Given the description of an element on the screen output the (x, y) to click on. 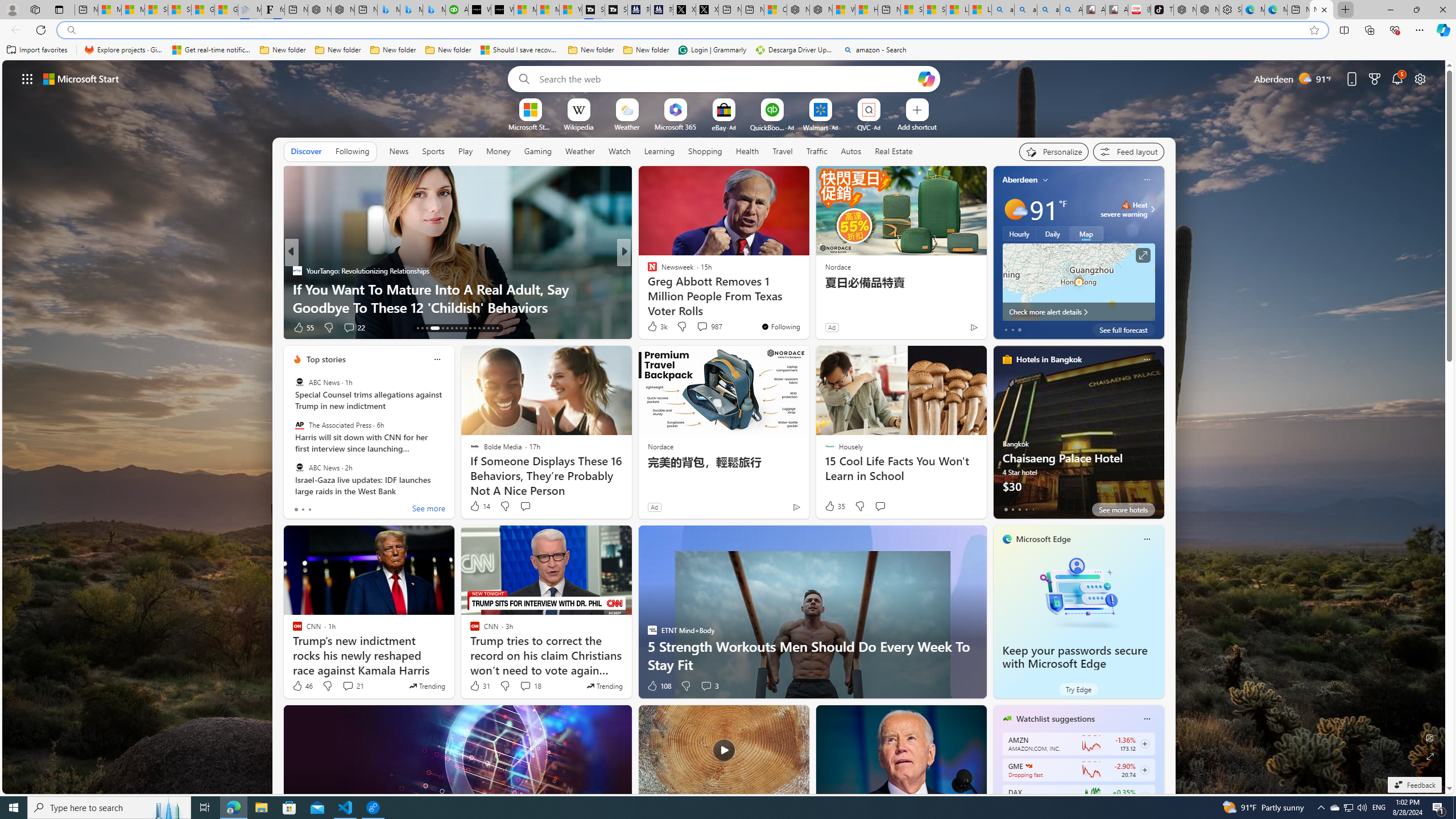
Money (498, 151)
Microsoft Edge (1043, 538)
View comments 2 Comment (698, 327)
View comments 3 Comment (705, 685)
Chaisaeng Palace Hotel (1078, 436)
AutomationID: tab-17 (439, 328)
Try Edge (1078, 689)
45 Like (652, 327)
Microsoft rewards (1374, 78)
